Given the description of an element on the screen output the (x, y) to click on. 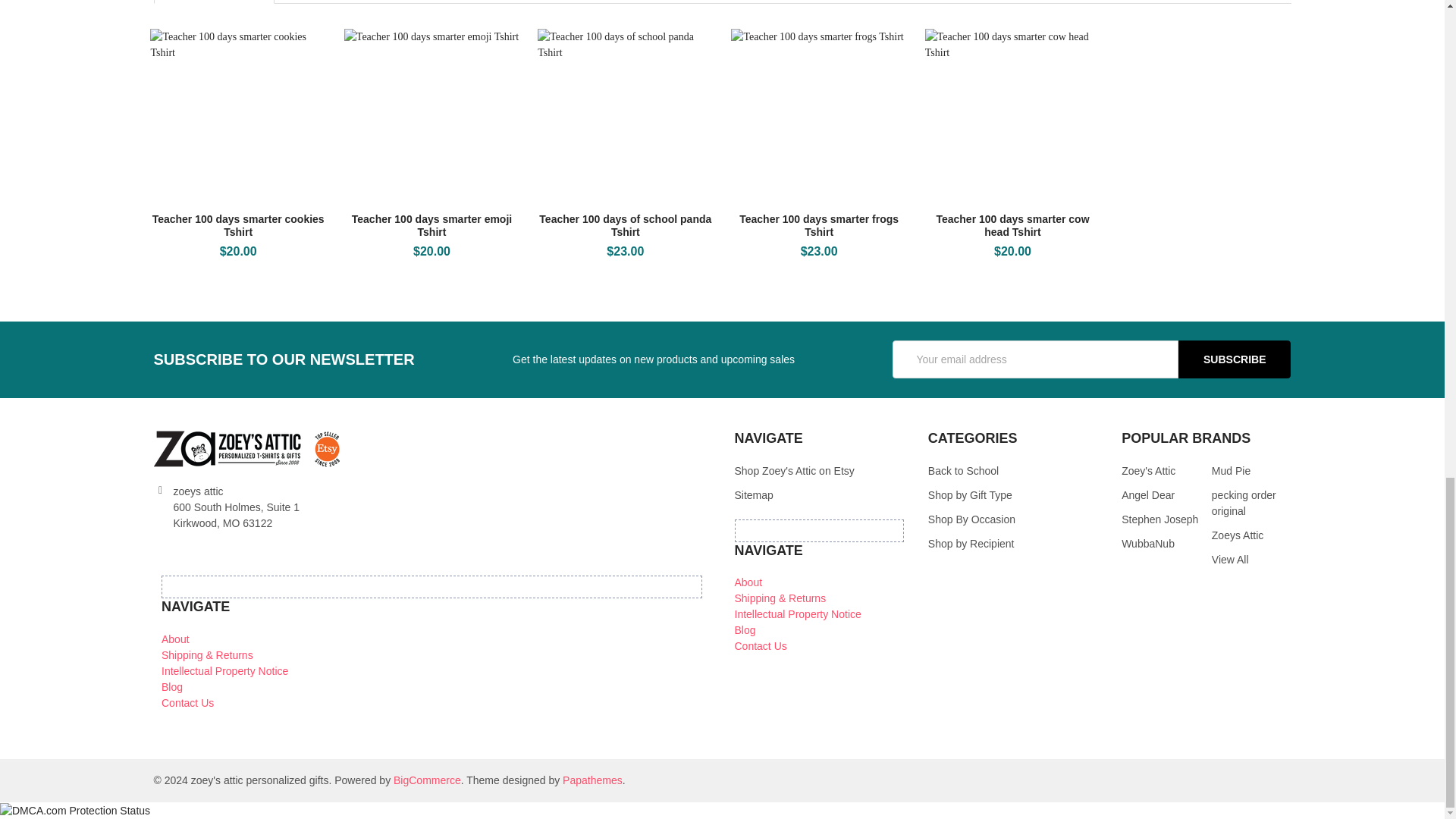
Subscribe (1233, 359)
Teacher 100 days smarter emoji Tshirt (431, 115)
Teacher 100 days of school panda Tshirt (625, 115)
Teacher 100 days smarter cookies Tshirt  (236, 115)
Teacher 100 days smarter frogs Tshirt (817, 115)
